Given the description of an element on the screen output the (x, y) to click on. 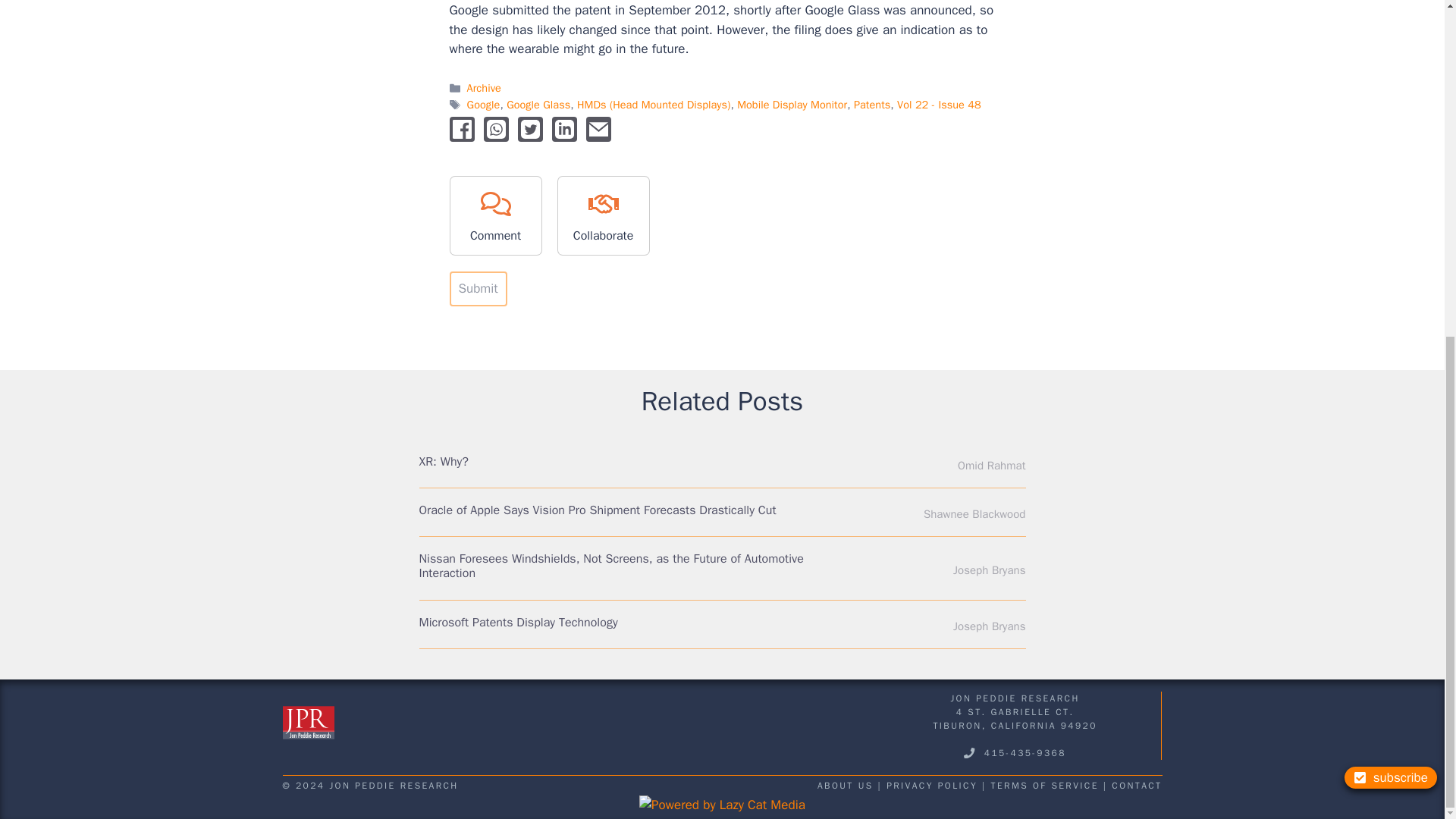
Google Glass (538, 104)
subscribe (1390, 210)
Submit (477, 288)
TERMS OF SERVICE (1045, 785)
ABOUT US (844, 785)
Archive (483, 88)
Patents (871, 104)
Vol 22 - Issue 48 (938, 104)
Microsoft Patents Display Technology (518, 622)
PRIVACY POLICY (931, 785)
Mobile Display Monitor (791, 104)
XR: Why? (443, 461)
